Given the description of an element on the screen output the (x, y) to click on. 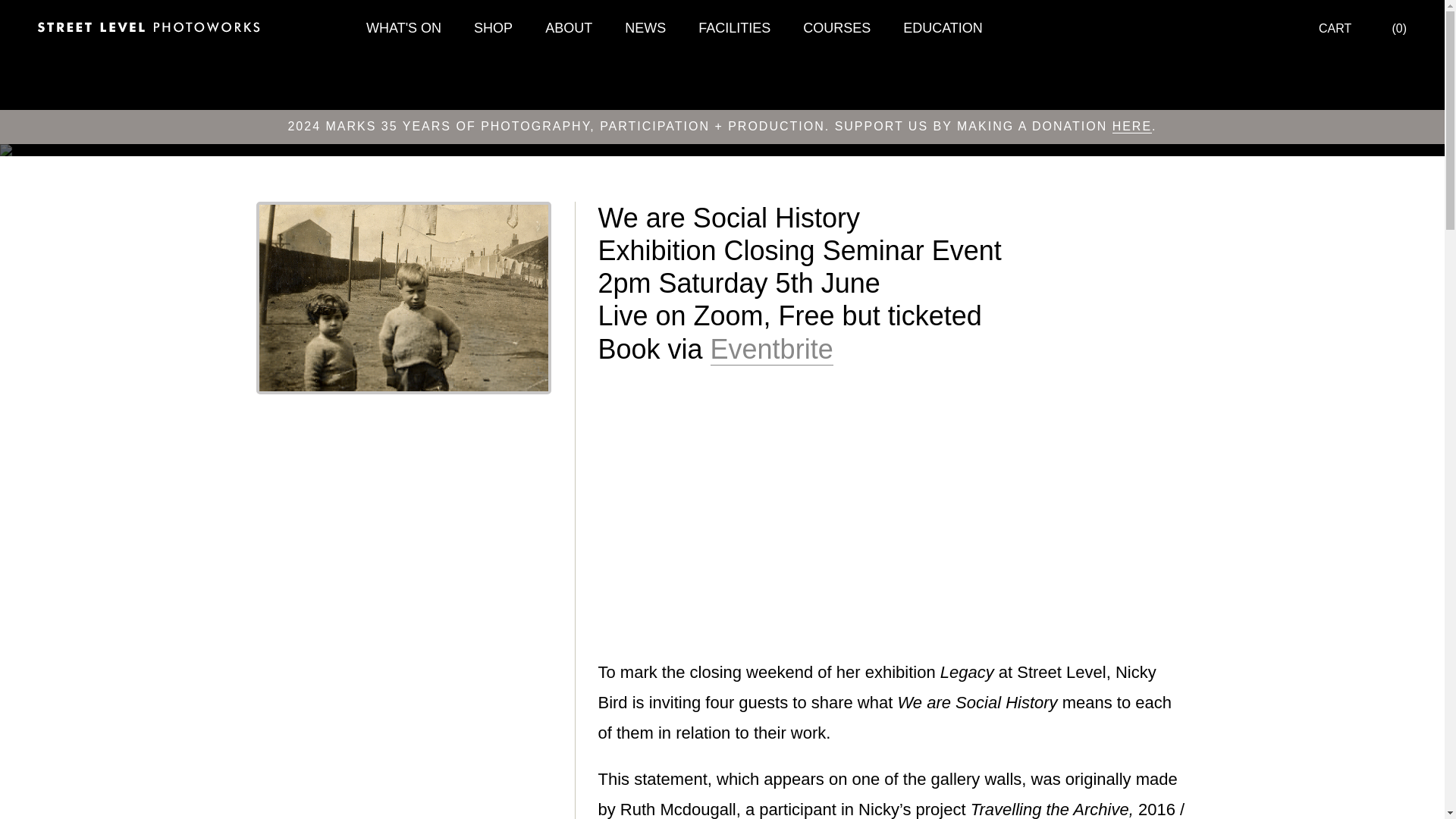
HERE (1131, 126)
ABOUT (568, 28)
SHOP (492, 28)
EDUCATION (942, 28)
COURSES (835, 28)
YouTube video player (809, 512)
NEWS (644, 28)
WHAT'S ON (403, 28)
FACILITIES (733, 28)
Eventbrite (771, 349)
